Given the description of an element on the screen output the (x, y) to click on. 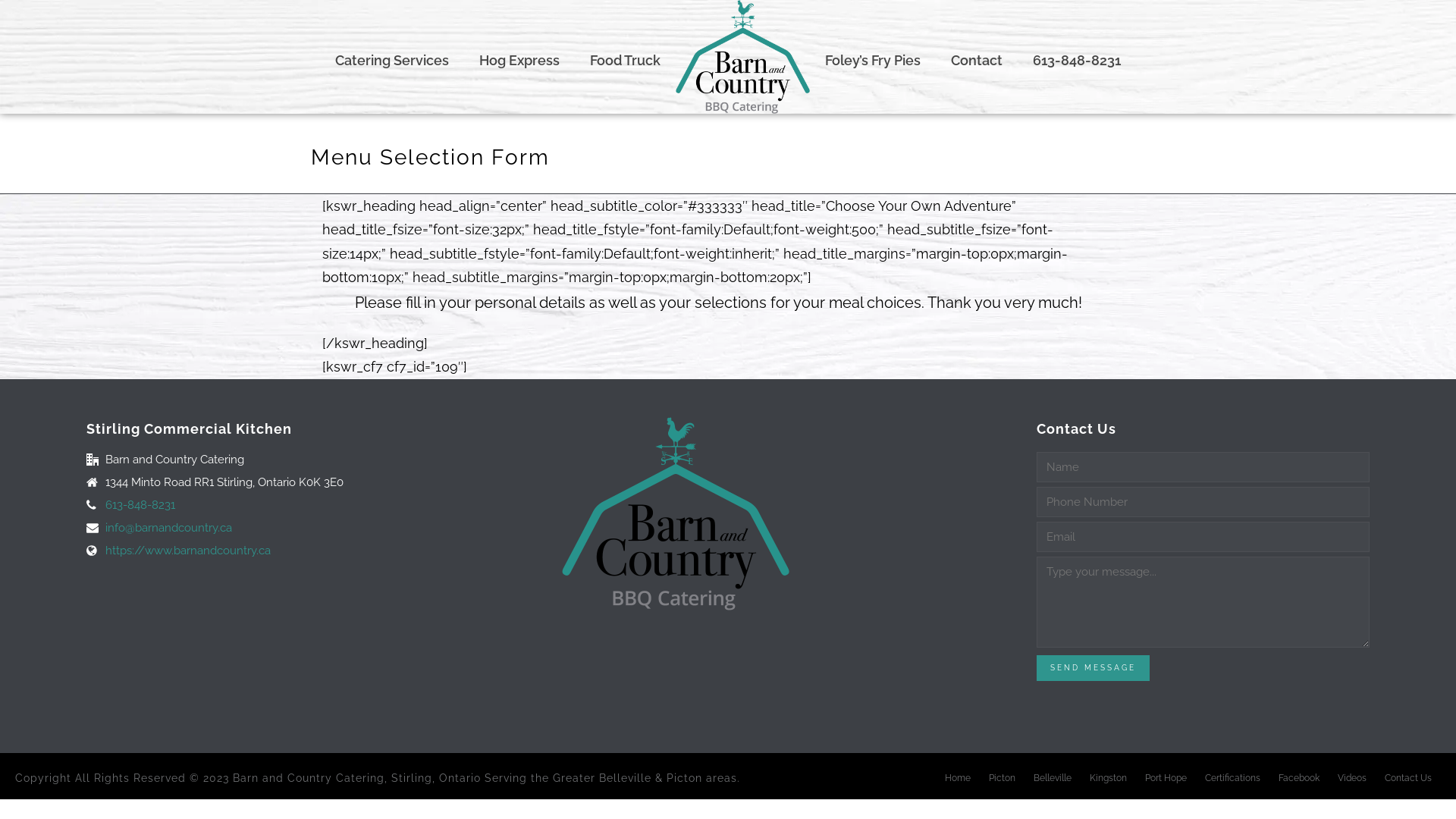
https://www.barnandcountry.ca Element type: text (187, 550)
Hog Express Element type: text (519, 56)
Certifications Element type: text (1232, 777)
Barn and Country Catering Element type: hover (742, 56)
Kingston Element type: text (1107, 777)
Videos Element type: text (1351, 777)
613-848-8231 Element type: text (140, 504)
info@barnandcountry.ca Element type: text (168, 527)
Contact Element type: text (976, 56)
Home Element type: text (957, 777)
Food Truck Element type: text (624, 56)
Contact Us Element type: text (1407, 777)
Facebook Element type: text (1298, 777)
SEND MESSAGE Element type: text (1092, 667)
Picton Element type: text (1001, 777)
Port Hope Element type: text (1165, 777)
Belleville Element type: text (1052, 777)
Catering Services Element type: text (392, 56)
613-848-8231 Element type: text (1076, 56)
